Given the description of an element on the screen output the (x, y) to click on. 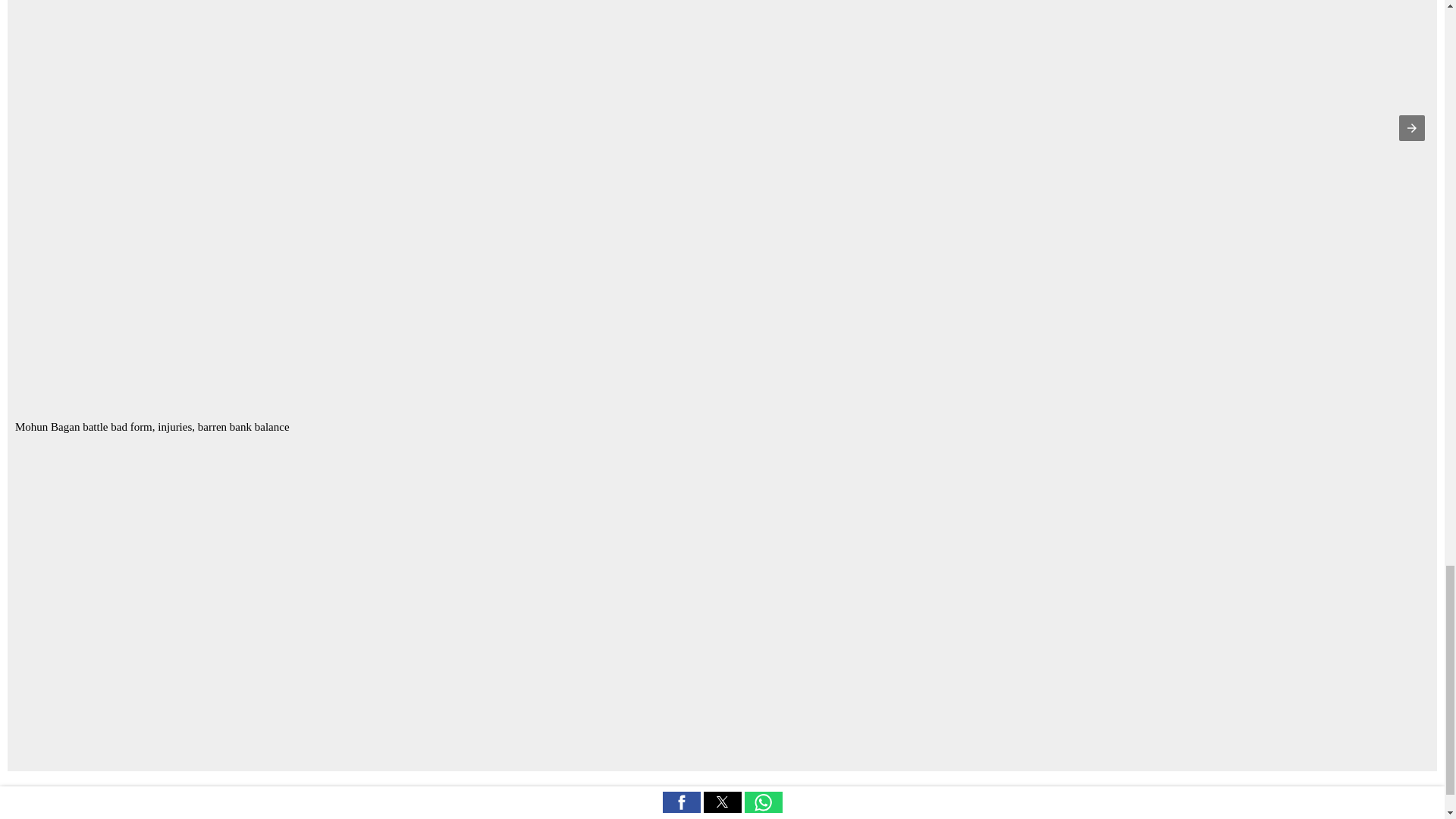
Mohun Bagan battle bad form, injuries, barren bank balance (151, 426)
